Given the description of an element on the screen output the (x, y) to click on. 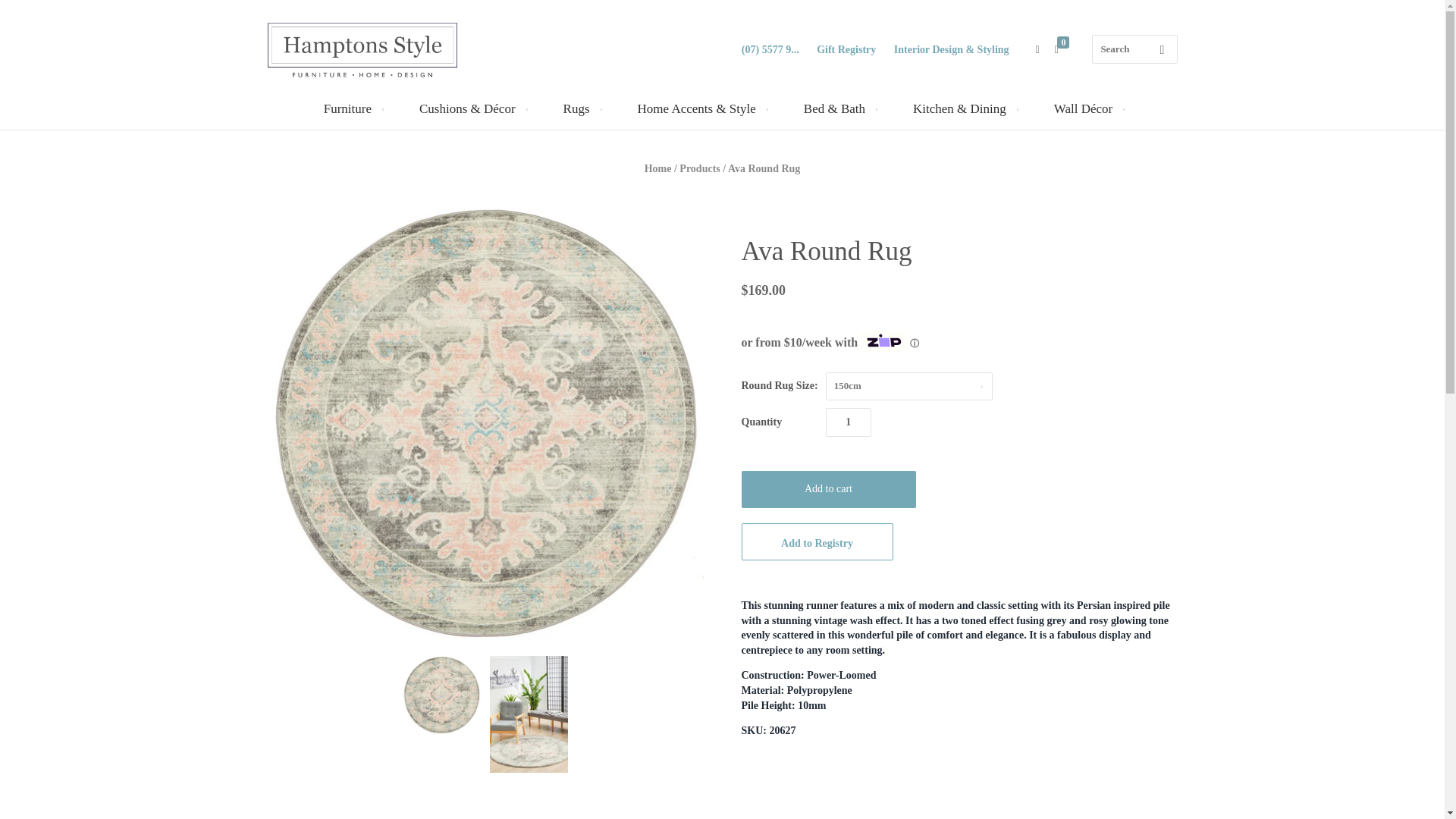
0 (1064, 49)
Furniture (351, 108)
1 (847, 421)
Add to cart (828, 488)
Gift Registry (846, 49)
